Given the description of an element on the screen output the (x, y) to click on. 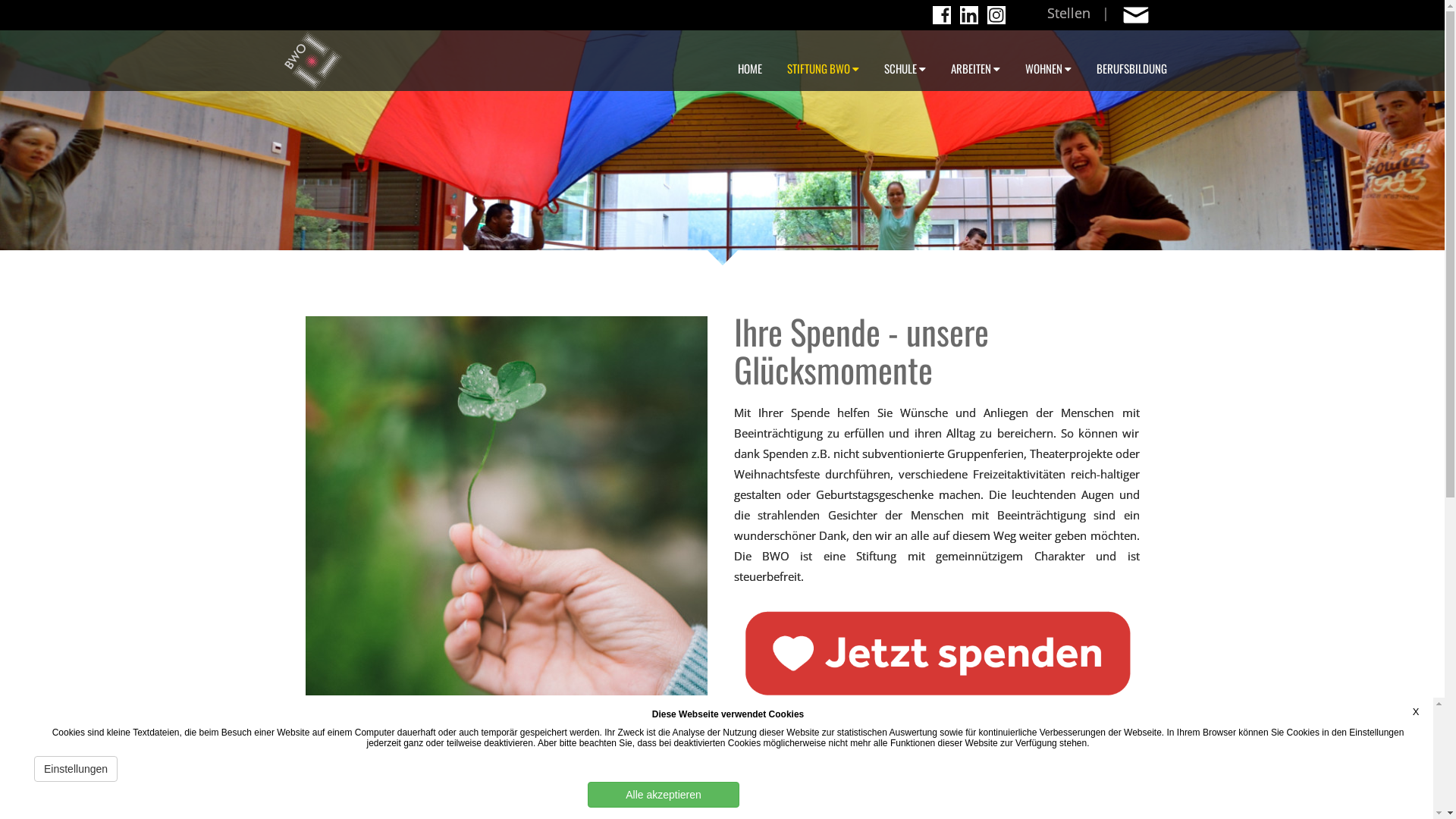
SCHULE Element type: text (904, 60)
Einstellungen Element type: text (75, 768)
HOME Element type: text (749, 60)
BERUFSBILDUNG Element type: text (1131, 60)
X Element type: text (1415, 710)
WOHNEN Element type: text (1047, 60)
Stellen Element type: text (1067, 10)
STIFTUNG BWO Element type: text (822, 60)
Alle akzeptieren Element type: text (663, 794)
ARBEITEN Element type: text (975, 60)
